Given the description of an element on the screen output the (x, y) to click on. 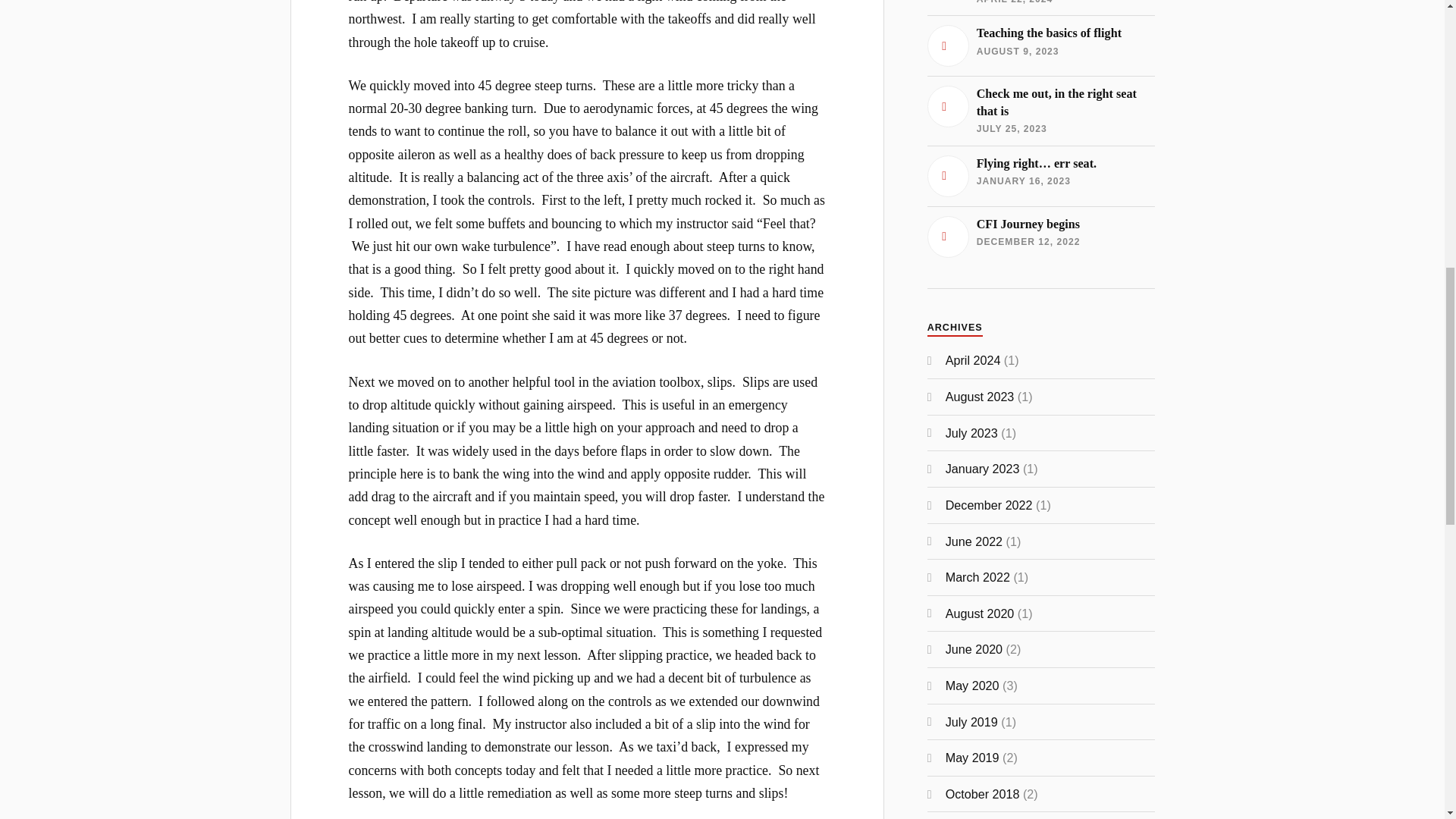
July 2023 (970, 432)
December 2022 (988, 504)
July 2019 (970, 721)
May 2019 (971, 757)
March 2022 (977, 576)
June 2020 (1040, 236)
May 2020 (973, 649)
January 2023 (971, 685)
October 2018 (1040, 110)
April 2024 (1040, 45)
August 2020 (982, 468)
June 2022 (982, 793)
